Given the description of an element on the screen output the (x, y) to click on. 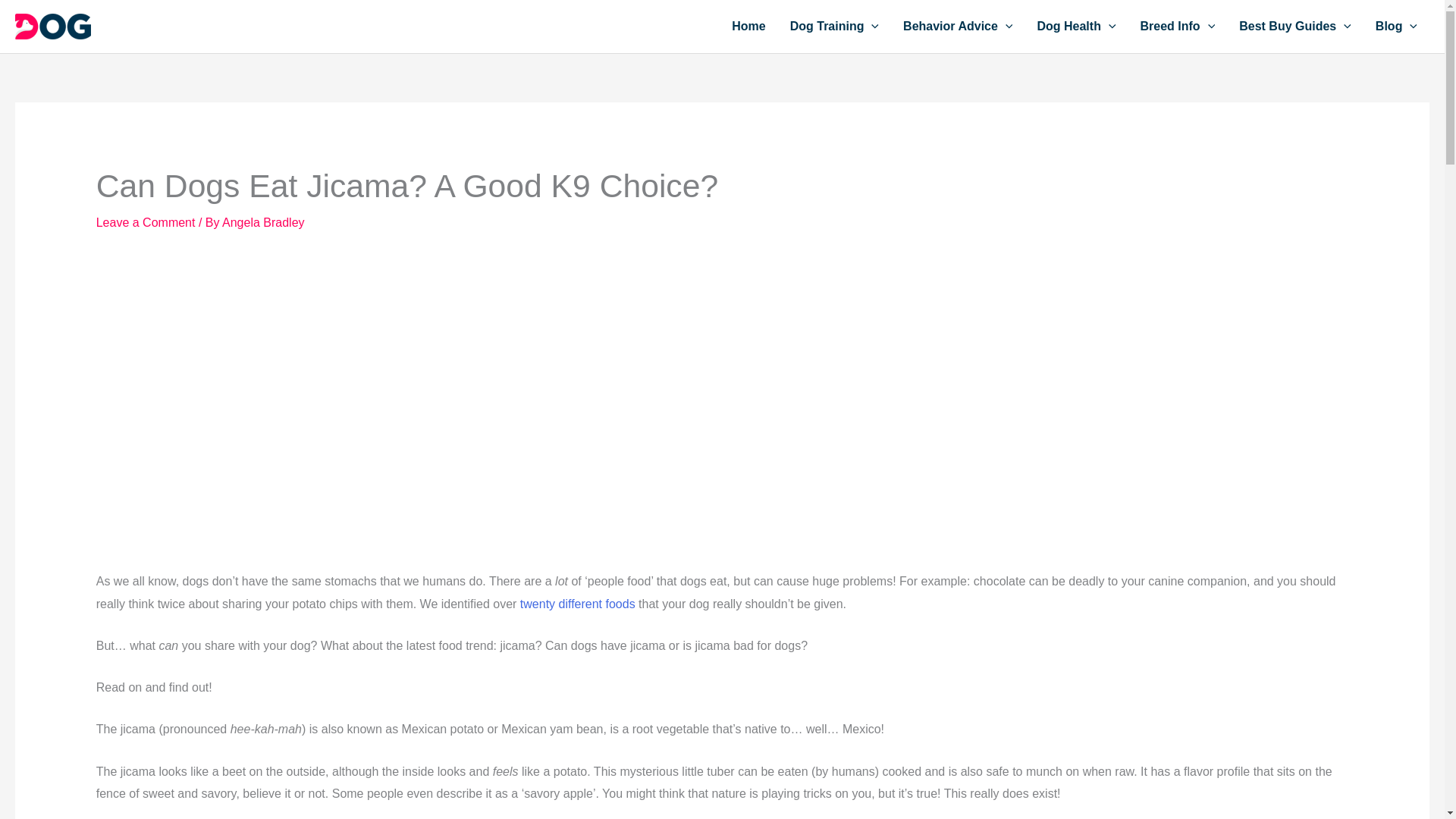
Home (748, 26)
Behavior Advice (958, 26)
View all posts by Angela Bradley (263, 222)
Dog Training (834, 26)
